Given the description of an element on the screen output the (x, y) to click on. 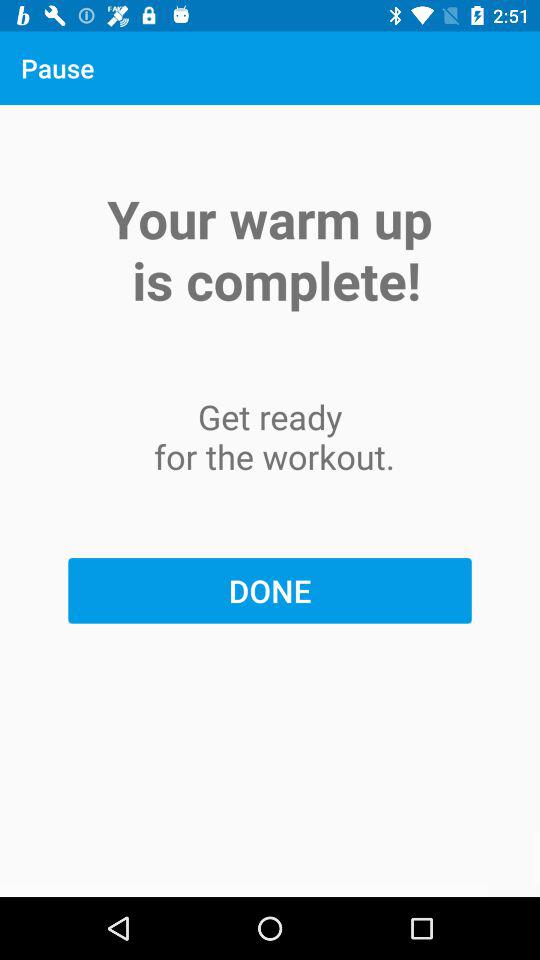
select item below done item (270, 863)
